Given the description of an element on the screen output the (x, y) to click on. 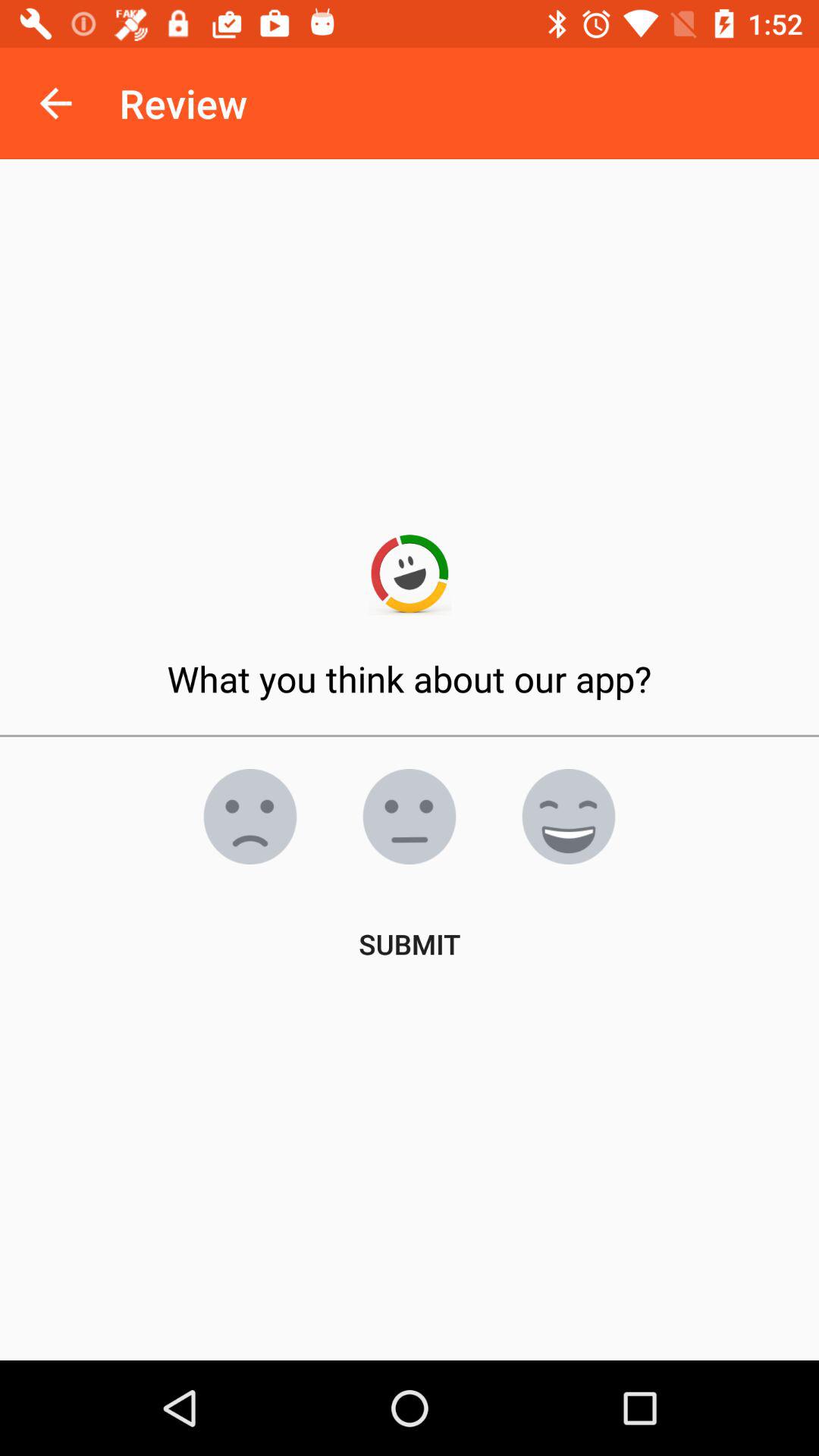
choose the item above the submit item (249, 816)
